Given the description of an element on the screen output the (x, y) to click on. 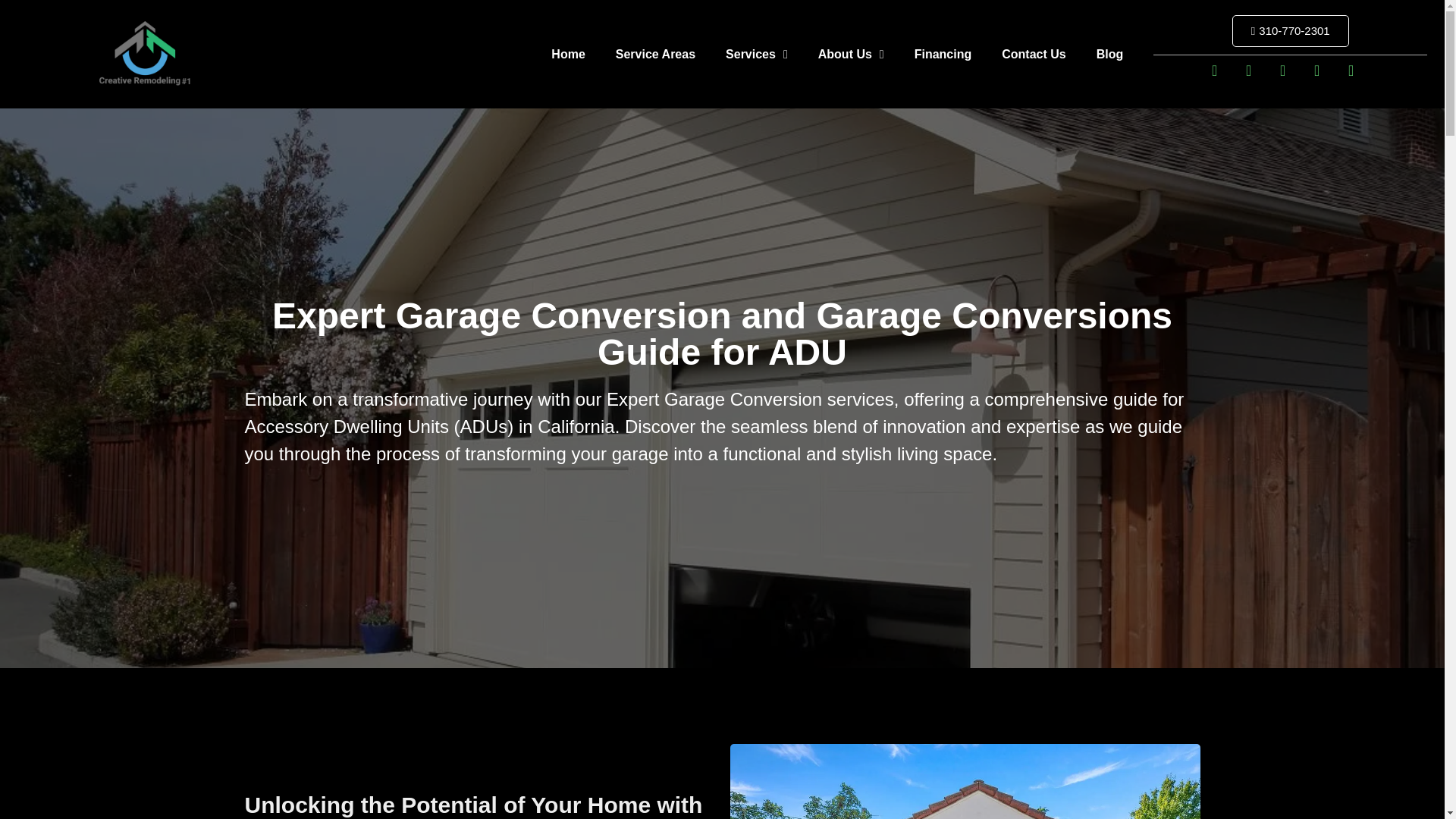
310-770-2301 (1290, 30)
Services (756, 53)
Contact Us (1033, 53)
Home (567, 53)
About Us (851, 53)
Financing (943, 53)
Blog (1109, 53)
Service Areas (654, 53)
